Given the description of an element on the screen output the (x, y) to click on. 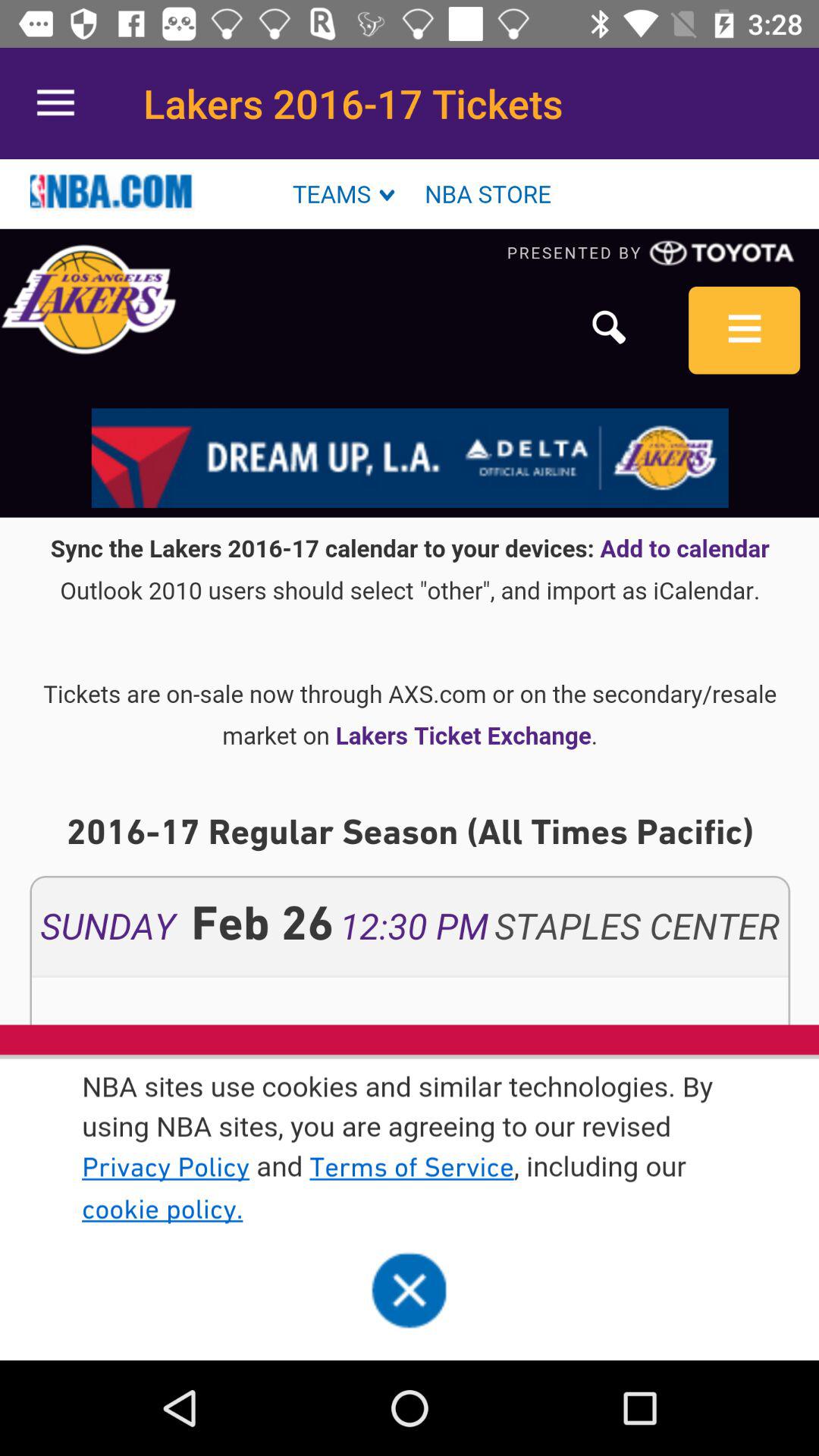
advertisement page (409, 759)
